Given the description of an element on the screen output the (x, y) to click on. 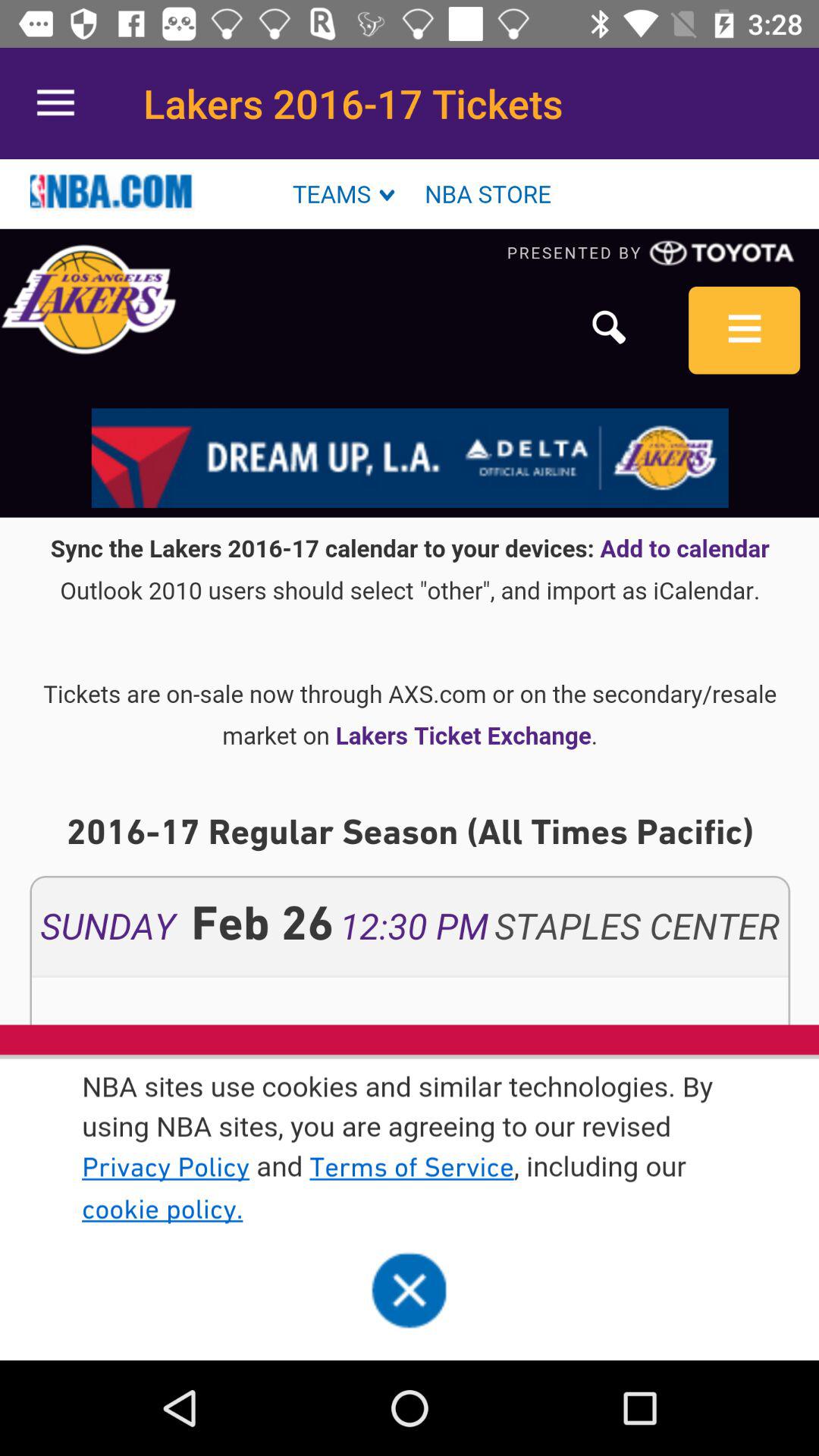
advertisement page (409, 759)
